Given the description of an element on the screen output the (x, y) to click on. 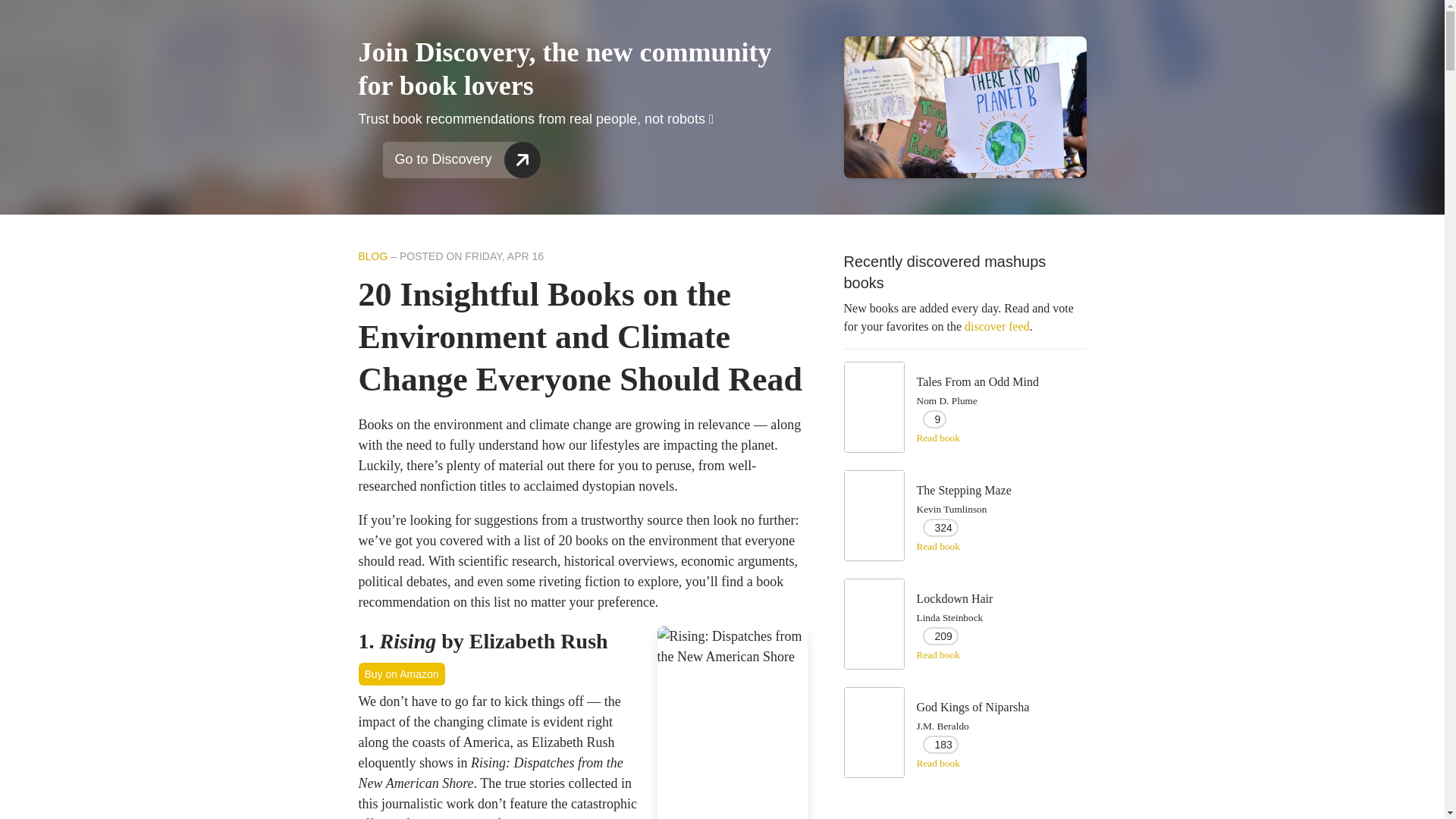
BLOG (372, 256)
Buy on Amazon (401, 673)
Go to Discovery (451, 159)
